Given the description of an element on the screen output the (x, y) to click on. 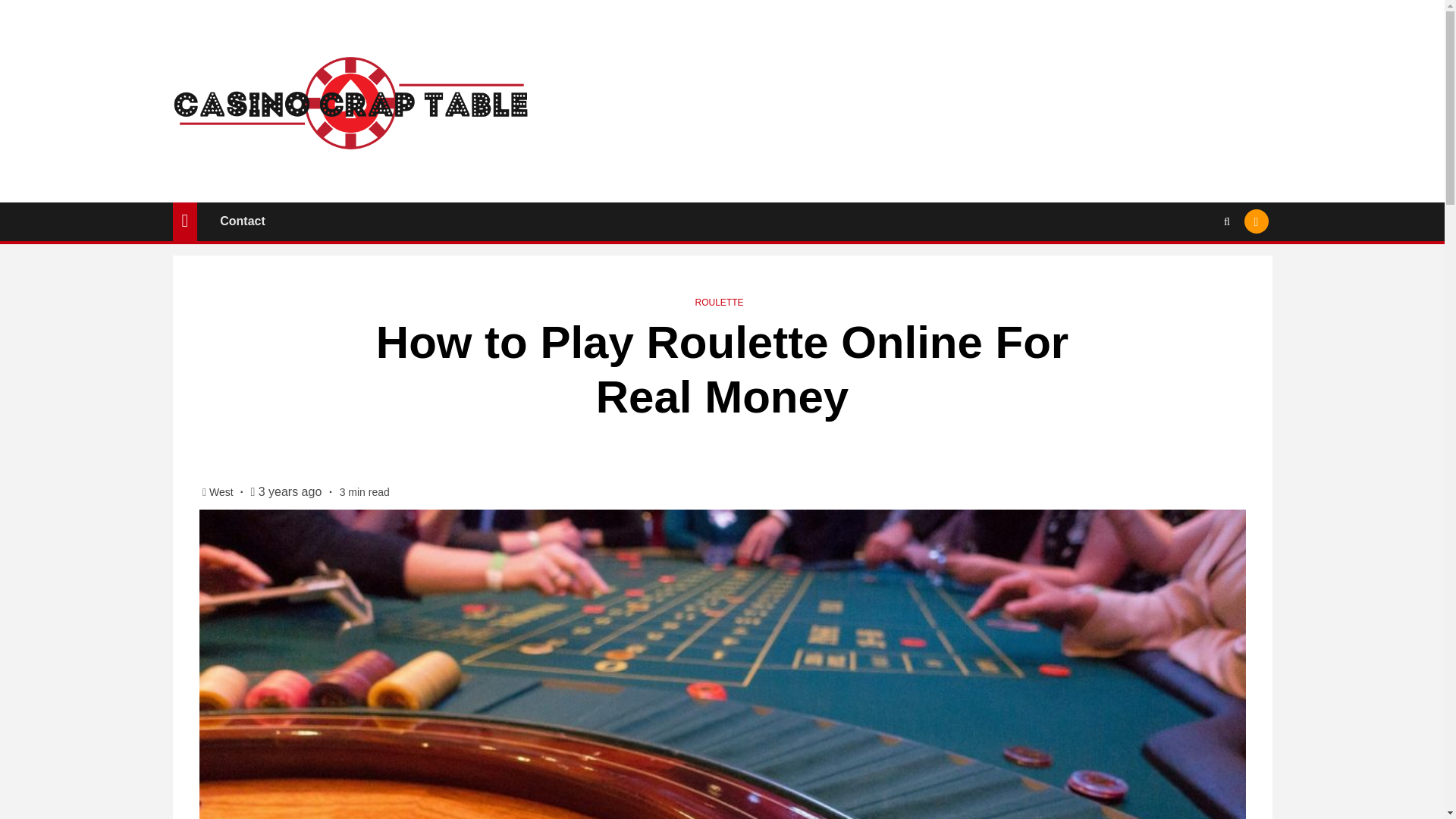
Search (1226, 221)
ROULETTE (718, 302)
Search (1197, 267)
Contact (241, 220)
West (222, 491)
